Given the description of an element on the screen output the (x, y) to click on. 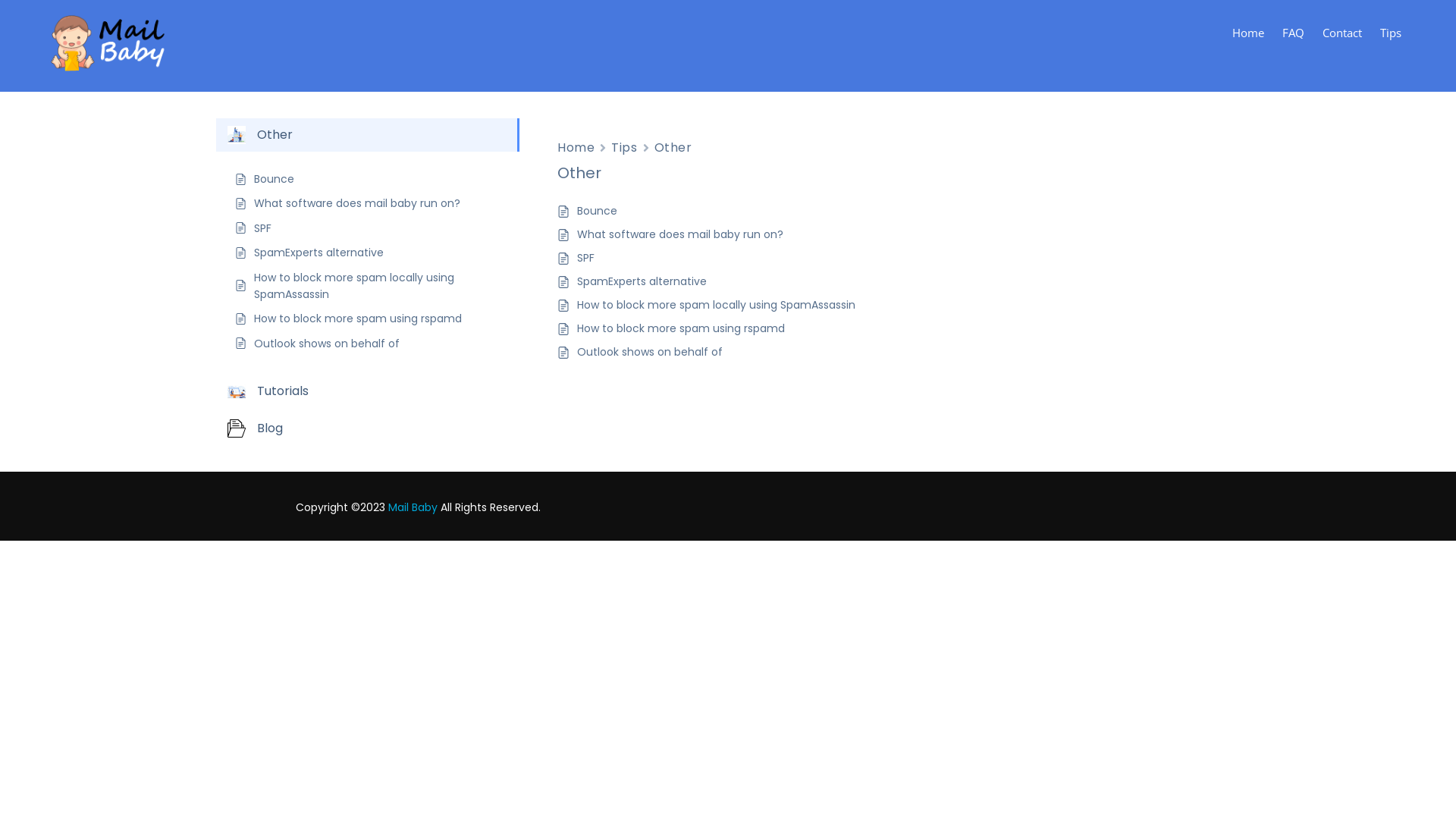
Tips Element type: text (1390, 32)
How to block more spam locally using SpamAssassin Element type: text (716, 305)
Bounce Element type: text (274, 178)
Home Element type: text (575, 147)
Home Element type: text (1248, 32)
What software does mail baby run on? Element type: text (680, 234)
Outlook shows on behalf of Element type: text (649, 352)
Mail Baby Element type: text (412, 506)
Outlook shows on behalf of Element type: text (326, 343)
SpamExperts alternative Element type: text (318, 252)
Tips Element type: text (624, 147)
SPF Element type: text (585, 258)
Mail Baby Element type: hover (113, 45)
How to block more spam using rspamd Element type: text (357, 318)
How to block more spam using rspamd Element type: text (680, 328)
Other Element type: text (672, 147)
SpamExperts alternative Element type: text (641, 281)
SPF Element type: text (262, 227)
What software does mail baby run on? Element type: text (357, 202)
How to block more spam locally using SpamAssassin Element type: text (377, 286)
FAQ Element type: text (1293, 32)
Contact Element type: text (1342, 32)
Bounce Element type: text (597, 211)
